Given the description of an element on the screen output the (x, y) to click on. 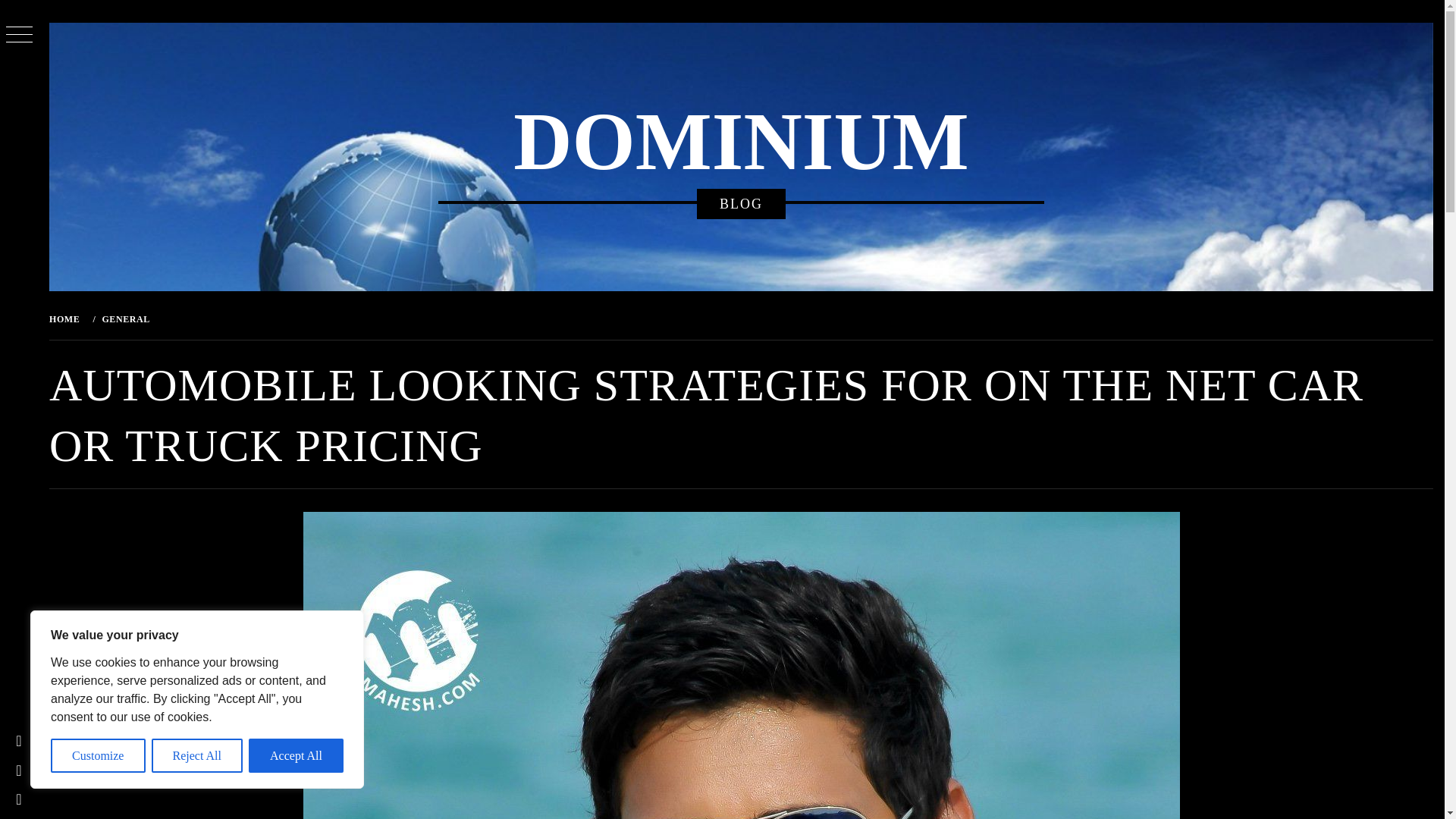
HOME (66, 318)
GENERAL (124, 318)
DOMINIUM (740, 141)
Customize (97, 755)
Reject All (197, 755)
Accept All (295, 755)
